Given the description of an element on the screen output the (x, y) to click on. 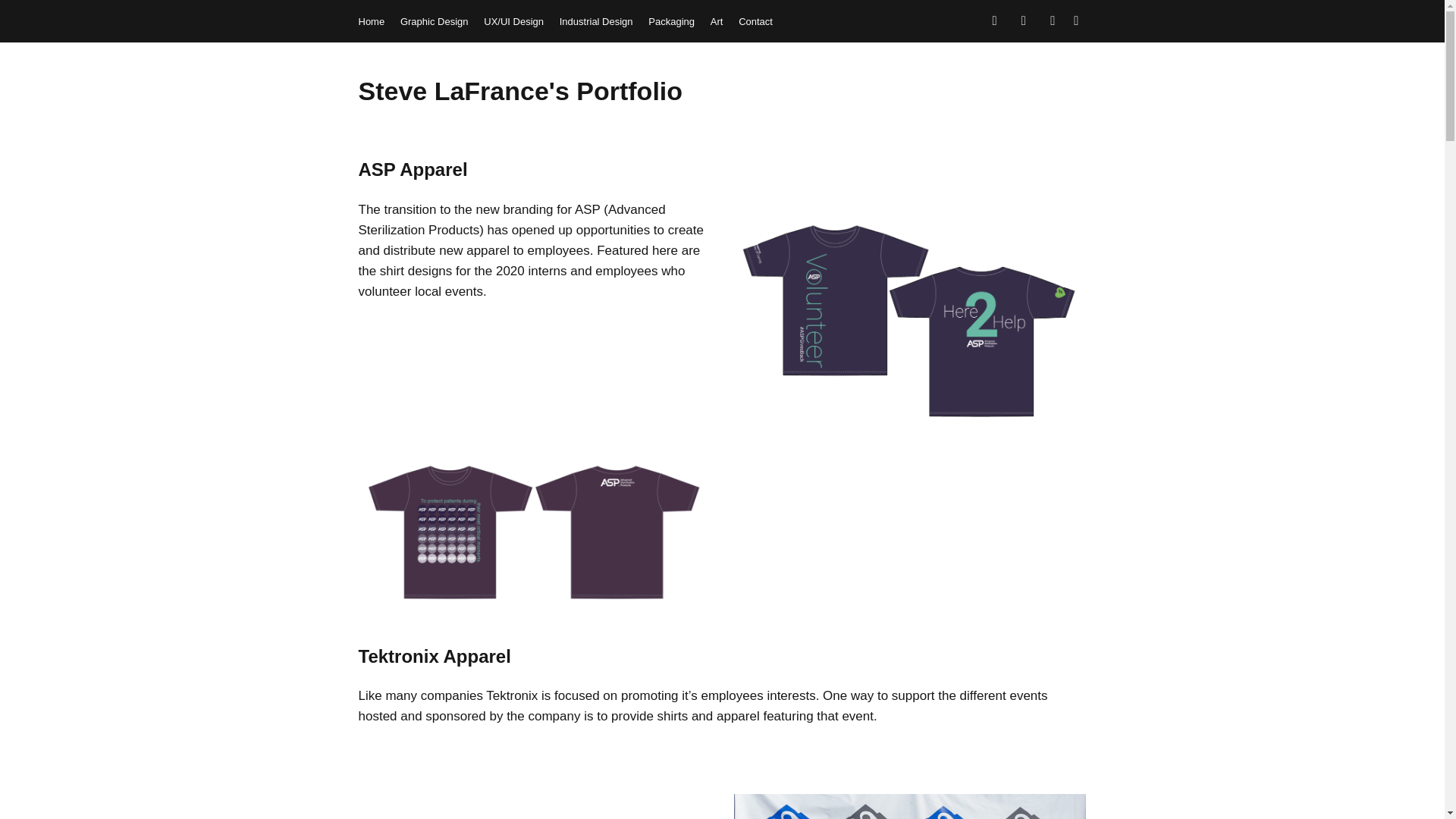
Contact (755, 21)
Industrial Design (596, 21)
Graphic Design (434, 21)
Packaging (670, 21)
Home (371, 21)
Art (716, 21)
Steve LaFrance's Portfolio (520, 90)
